Given the description of an element on the screen output the (x, y) to click on. 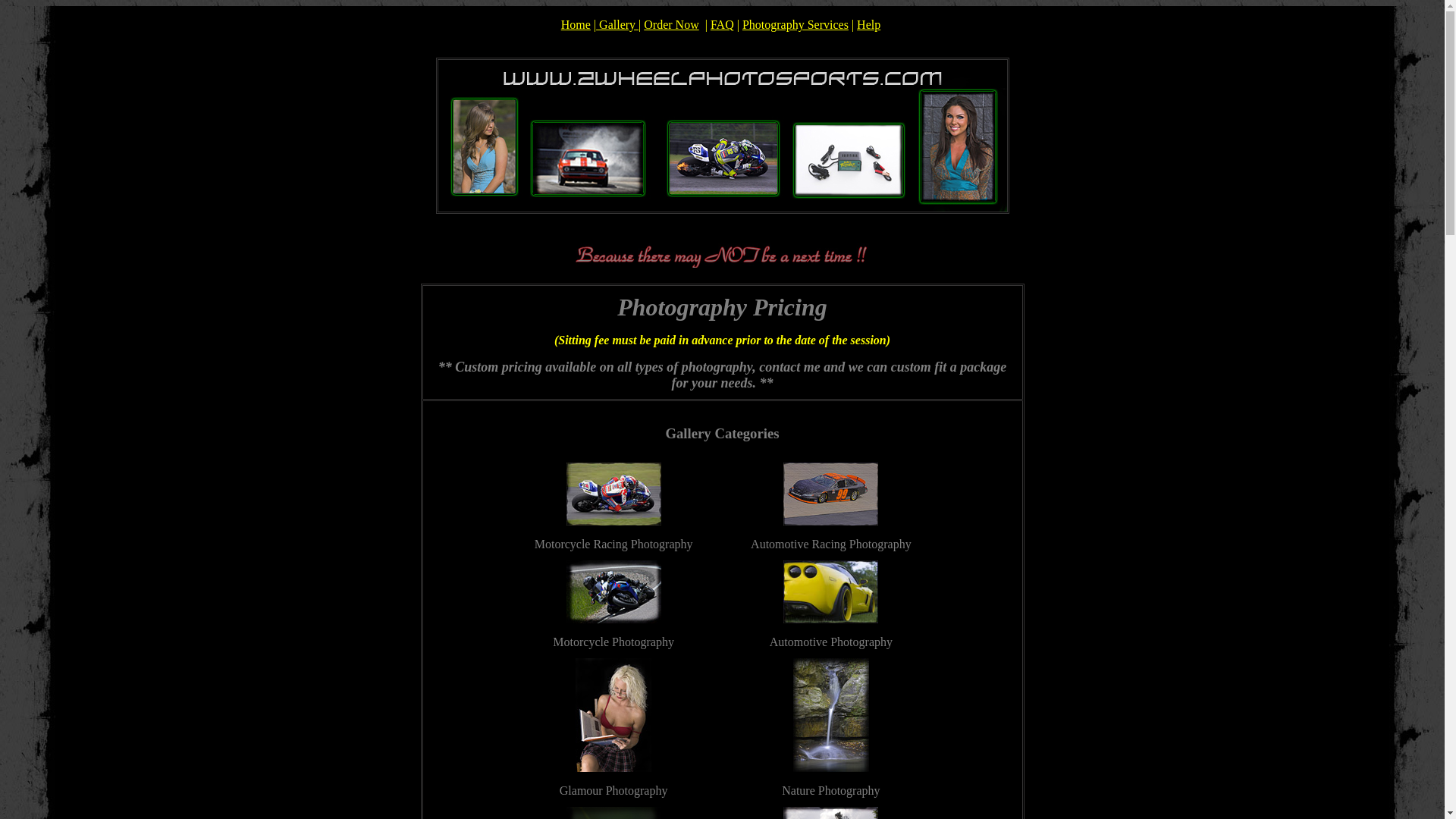
Order Now Element type: text (670, 24)
Photography Services Element type: text (795, 24)
Home Element type: text (575, 24)
Help Element type: text (868, 24)
Gallery Element type: text (617, 24)
FAQ Element type: text (722, 24)
